Given the description of an element on the screen output the (x, y) to click on. 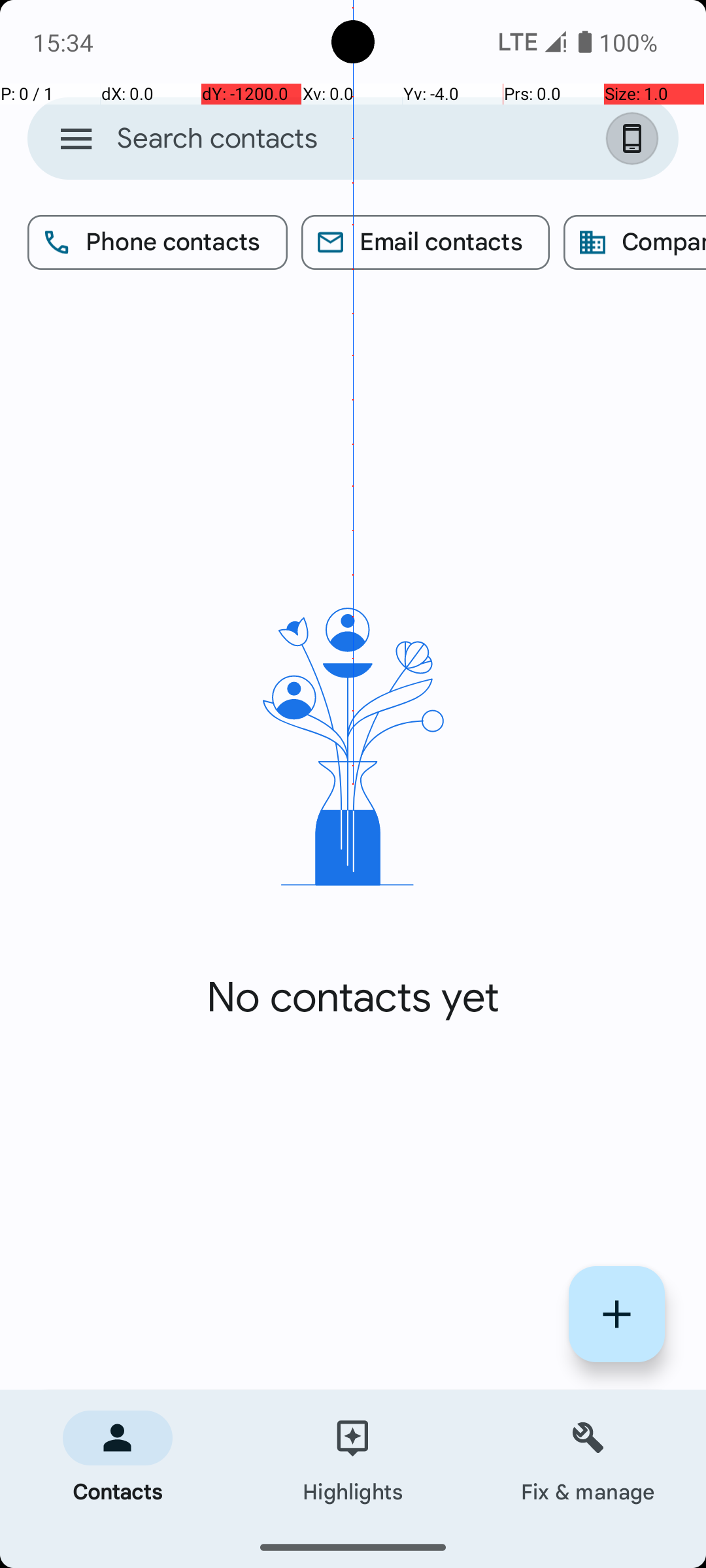
No contacts yet Element type: android.widget.TextView (353, 997)
